Given the description of an element on the screen output the (x, y) to click on. 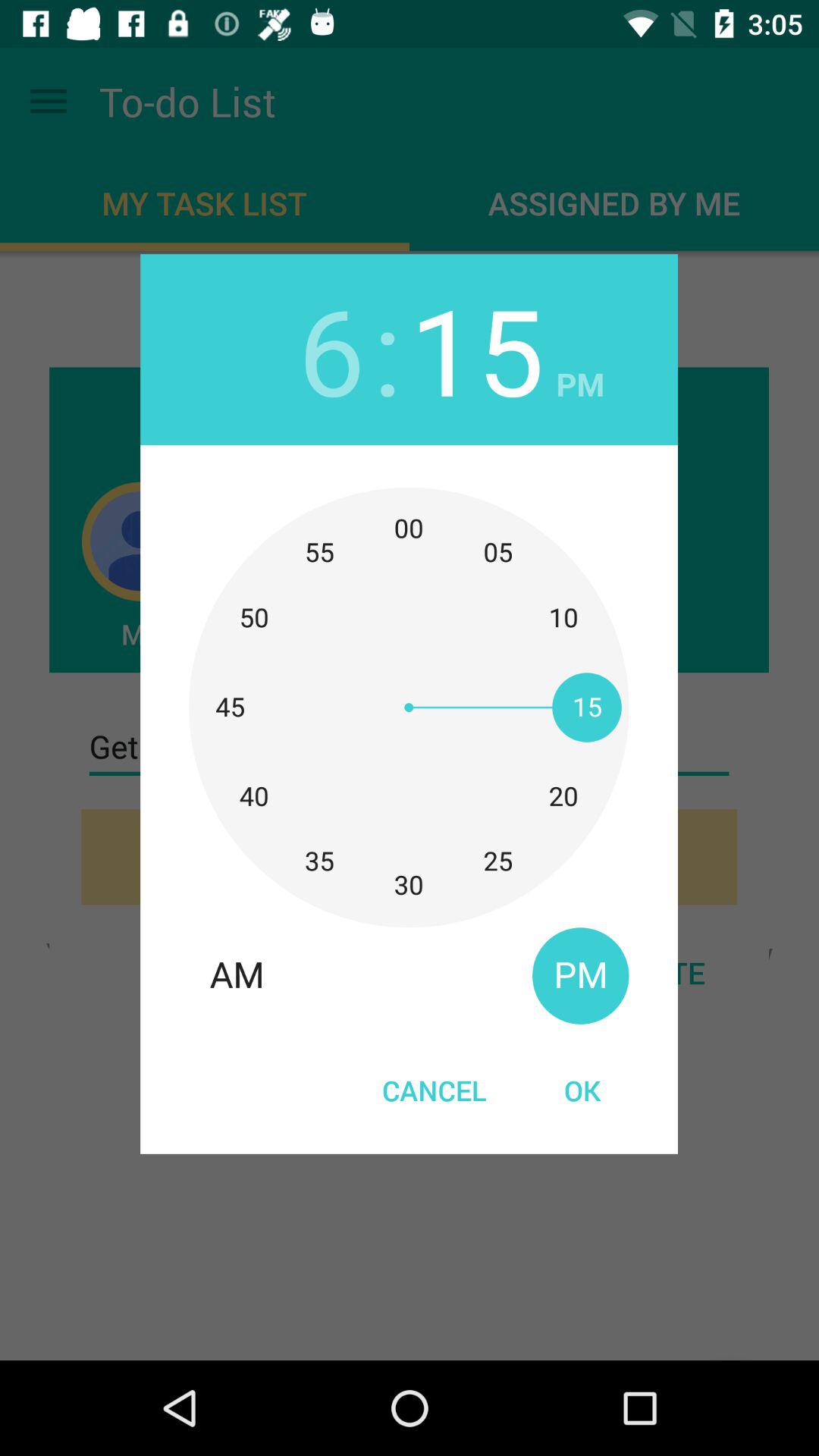
open the ok item (582, 1090)
